Given the description of an element on the screen output the (x, y) to click on. 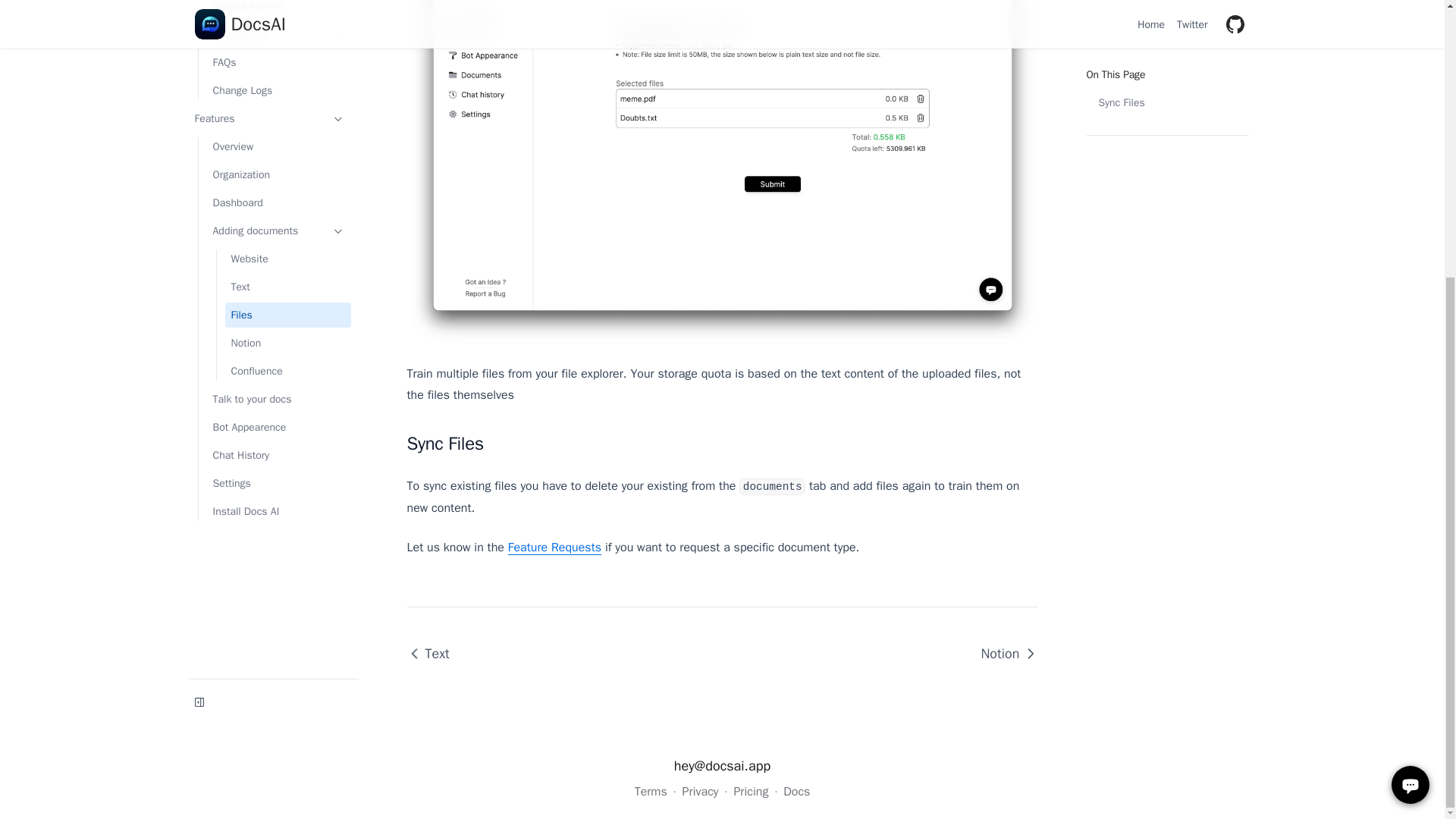
Chat History (278, 169)
Hide sidebar (198, 384)
Text (287, 6)
Text (433, 653)
Text (433, 653)
Talk to your docs (278, 113)
Notion (287, 57)
Confluence (287, 84)
Notion (1002, 653)
Notion (1002, 653)
